Given the description of an element on the screen output the (x, y) to click on. 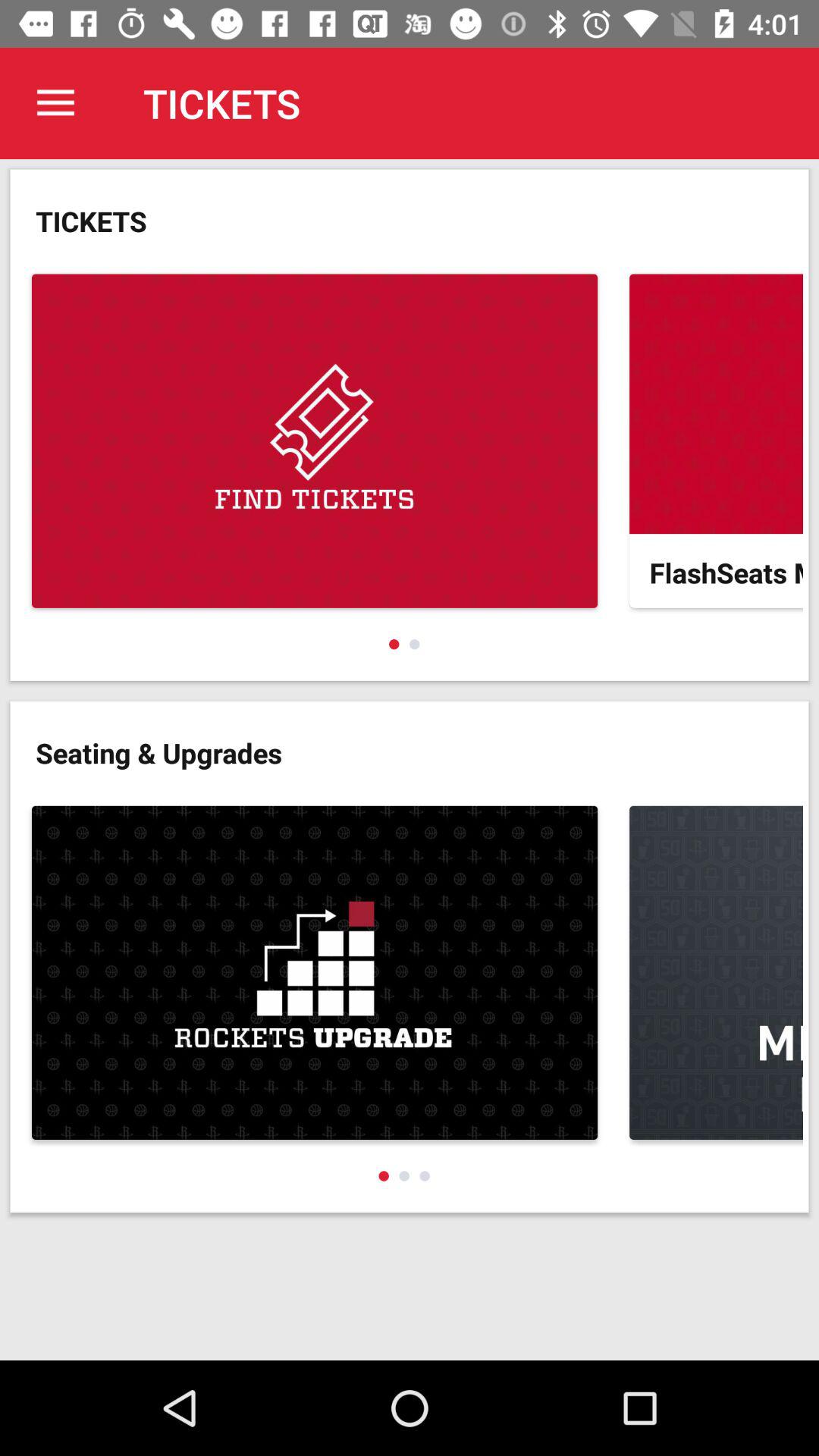
launch the icon above tickets item (55, 103)
